Given the description of an element on the screen output the (x, y) to click on. 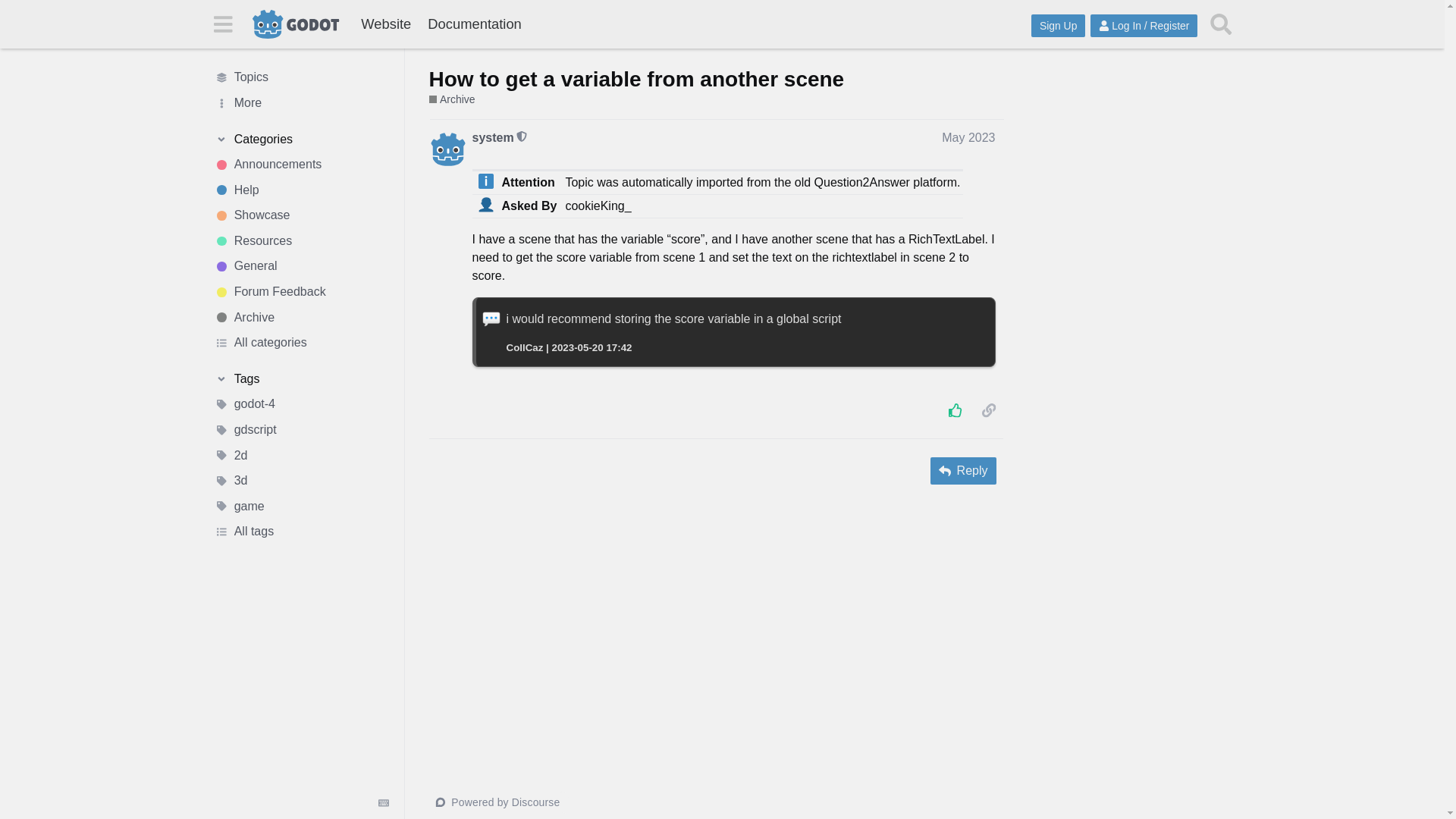
How to get a variable from another scene (636, 78)
Toggle section (301, 379)
All topics (301, 77)
Showcase (301, 216)
3d (301, 481)
Help (301, 190)
All tags (301, 532)
May 2023 (968, 137)
Categories (301, 139)
gdscript (301, 429)
Go to the Godot Documentation (474, 23)
Sidebar (222, 23)
Forum Feedback (301, 291)
